Given the description of an element on the screen output the (x, y) to click on. 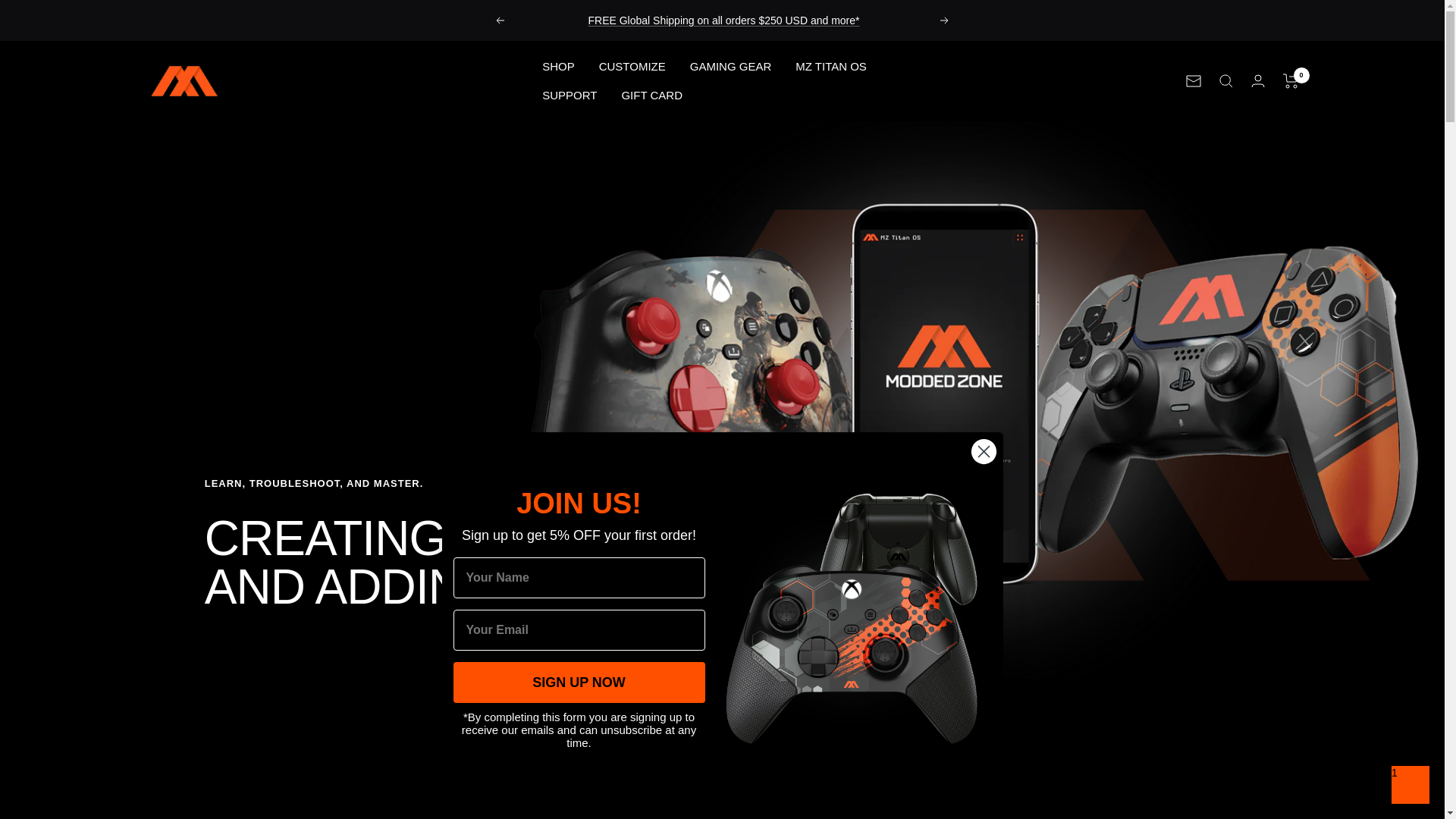
SUPPORT (568, 95)
CUSTOMIZE (631, 66)
SHOP (558, 66)
Close dialog 1 (984, 451)
Newsletter (1193, 80)
GAMING GEAR (730, 66)
ModdedZone (183, 80)
MZ TITAN OS (830, 66)
Previous (499, 20)
Next (944, 20)
0 (1290, 80)
GIFT CARD (651, 95)
